Given the description of an element on the screen output the (x, y) to click on. 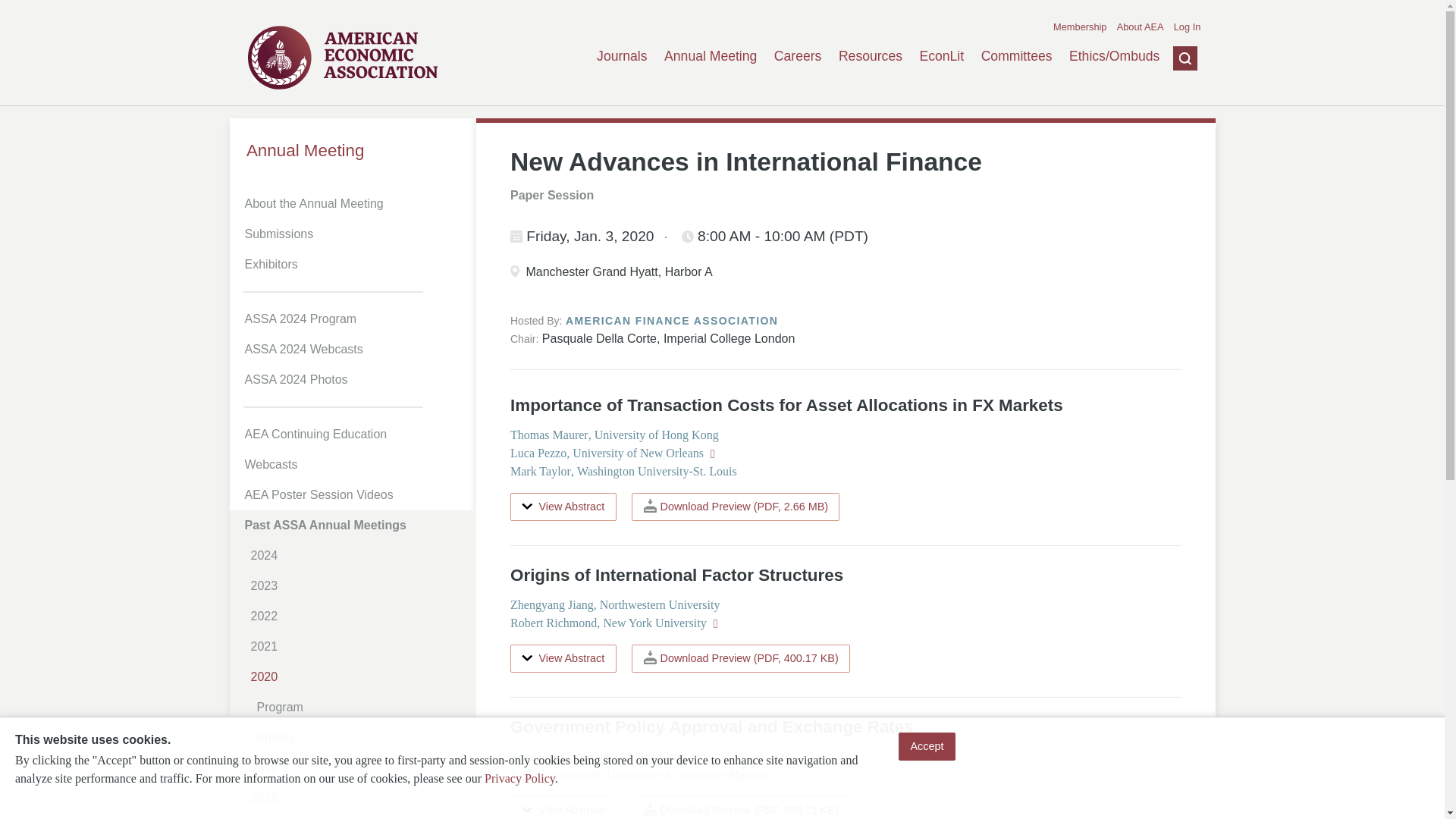
Accept (926, 746)
Careers (798, 55)
2023 (358, 585)
Privacy Policy (519, 778)
Log In (1187, 26)
Journals (621, 55)
2022 (358, 616)
Exhibitors (355, 264)
ASSA 2024 Program (355, 318)
EconLit (940, 55)
